Given the description of an element on the screen output the (x, y) to click on. 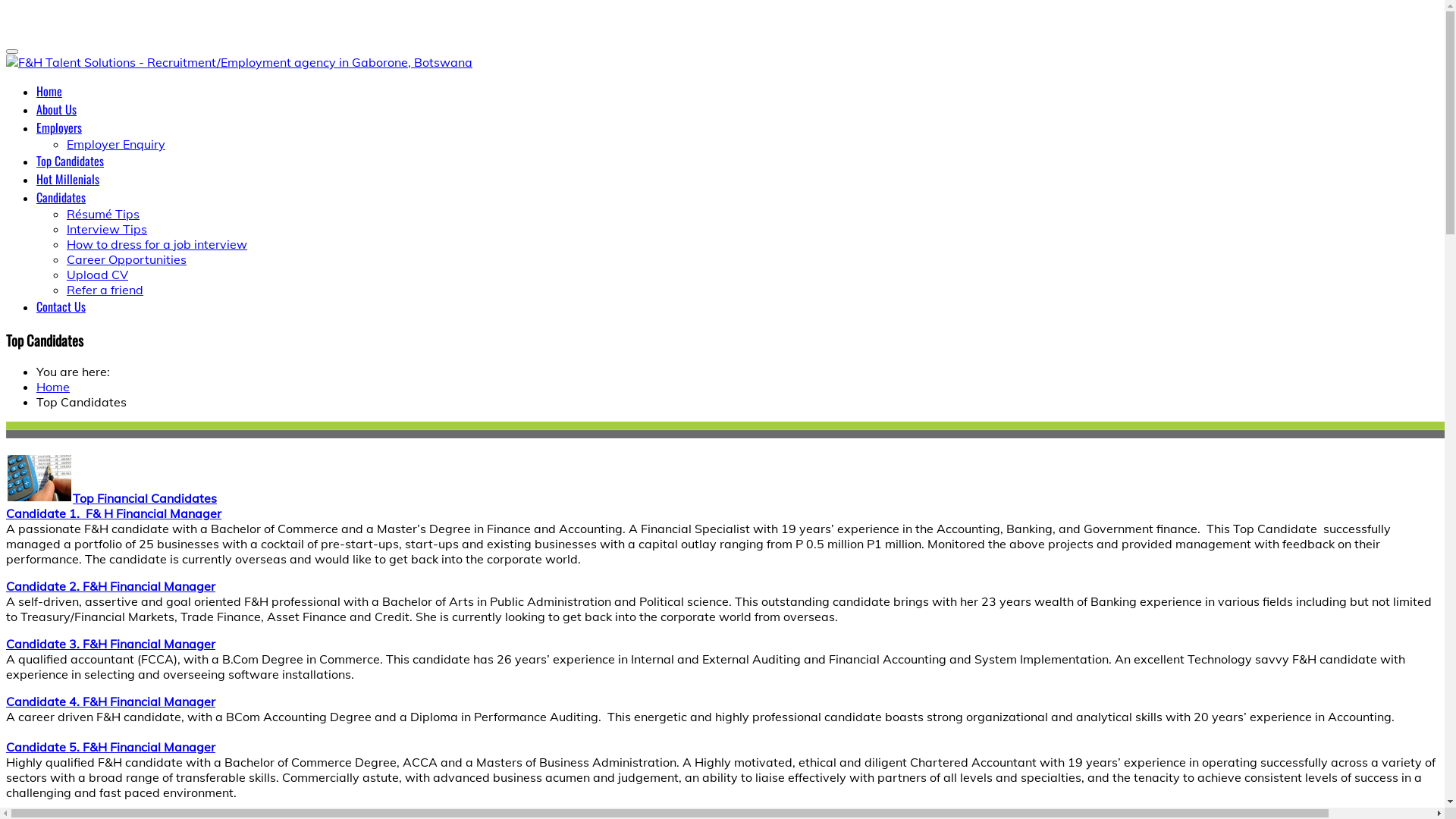
Upload CV Element type: text (97, 274)
Candidates Element type: text (60, 197)
How to dress for a job interview Element type: text (156, 243)
Career Opportunities Element type: text (126, 258)
Interview Tips Element type: text (106, 228)
Candidate 2. F&H Financial Manager Element type: text (110, 585)
Contact Us Element type: text (60, 306)
Candidate 5. F&H Financial Manager Element type: text (110, 746)
Employer Enquiry Element type: text (115, 143)
Candidate 1.  F& H Financial Manager Element type: text (113, 512)
Candidate 3. F&H Financial Manager Element type: text (110, 643)
Home Element type: text (49, 90)
Home Element type: text (52, 386)
Refer a friend Element type: text (104, 289)
Top Financial Candidates Element type: text (144, 497)
Top Candidates Element type: text (69, 160)
About Us Element type: text (56, 109)
Employers Element type: text (58, 127)
Candidate 4. F&H Financial Manager Element type: text (110, 701)
Hot Millenials Element type: text (67, 178)
